Given the description of an element on the screen output the (x, y) to click on. 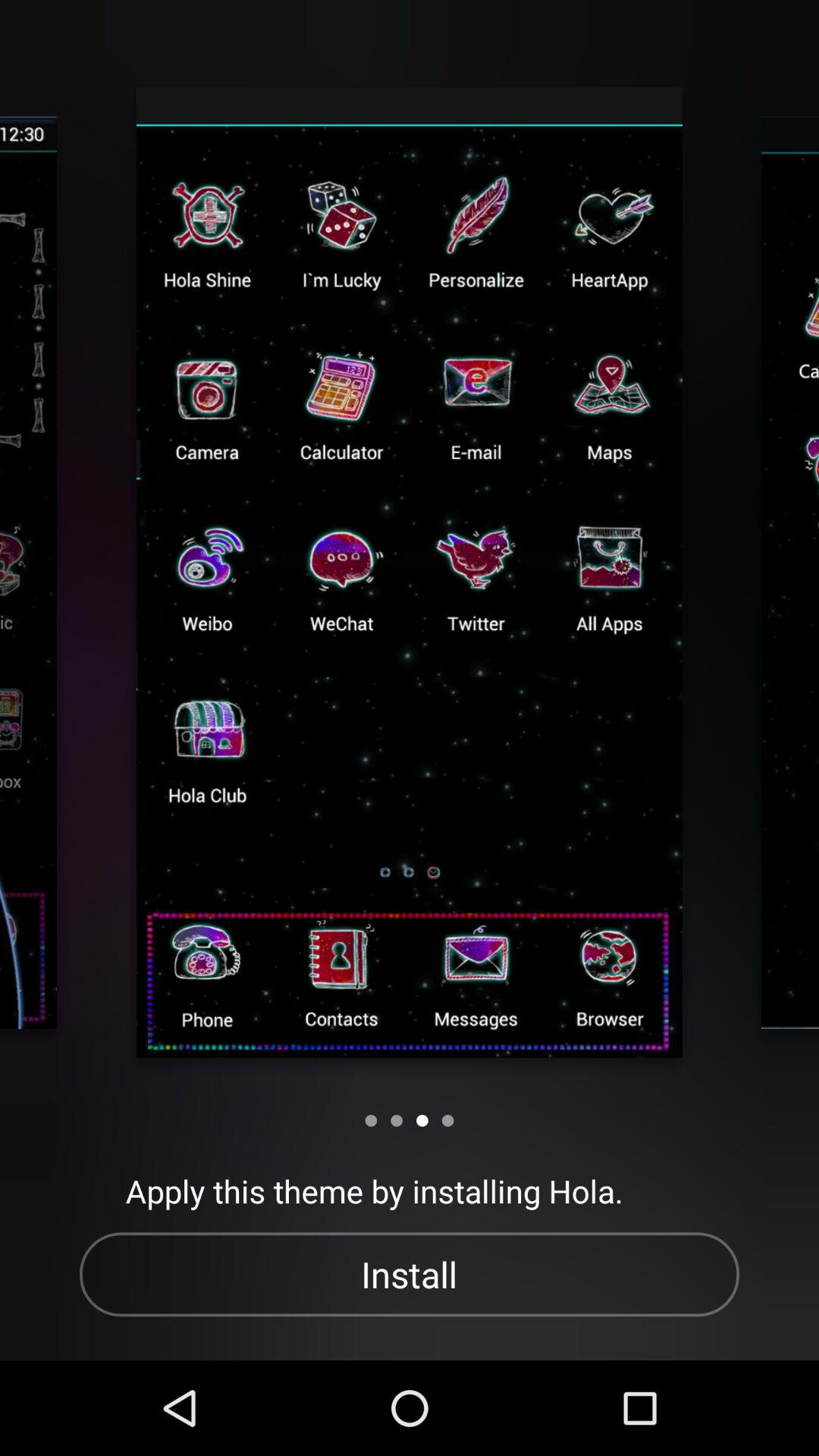
launch the icon above the apply this theme icon (422, 1120)
